Given the description of an element on the screen output the (x, y) to click on. 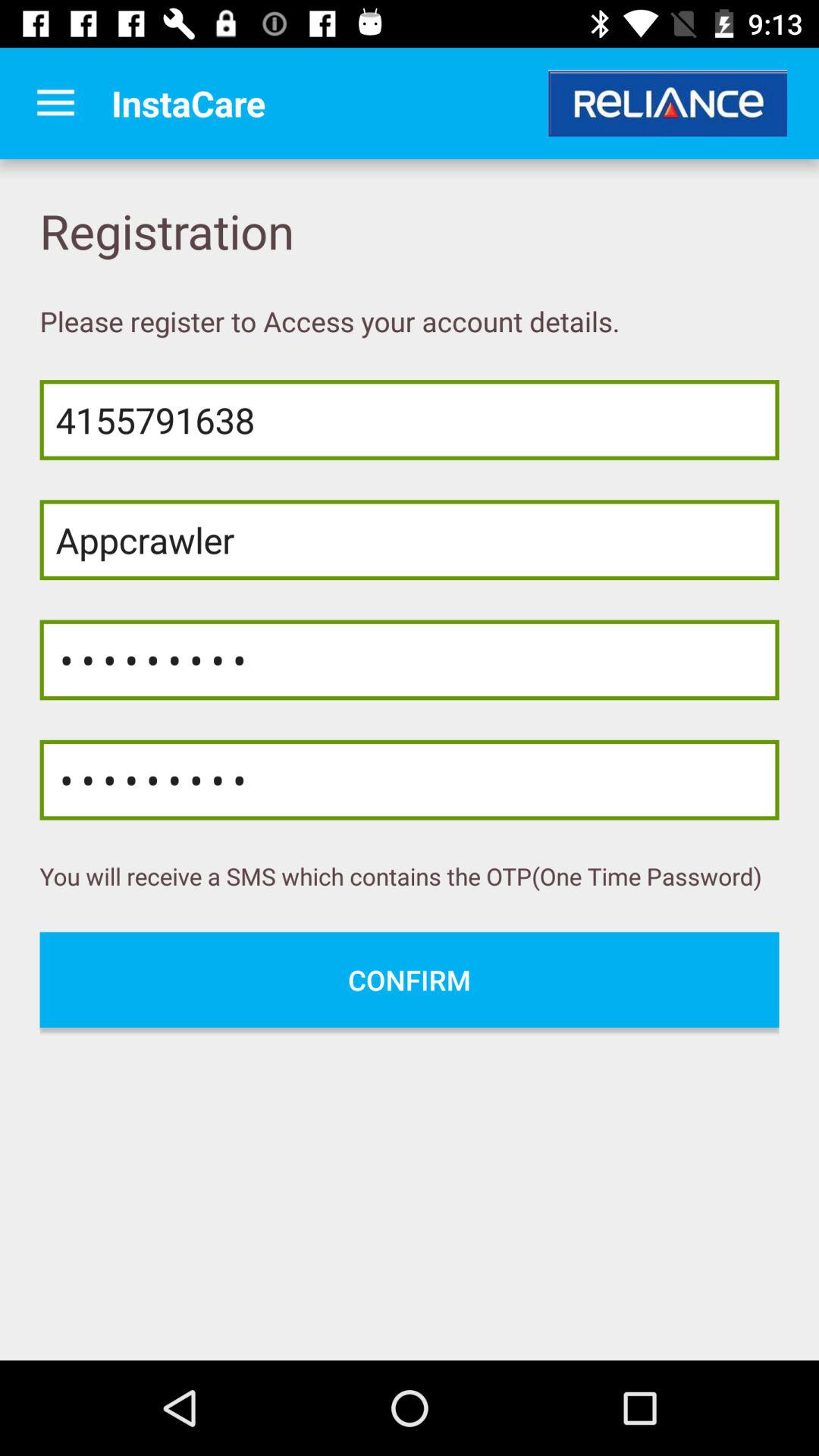
click item above appcrawler (409, 419)
